Given the description of an element on the screen output the (x, y) to click on. 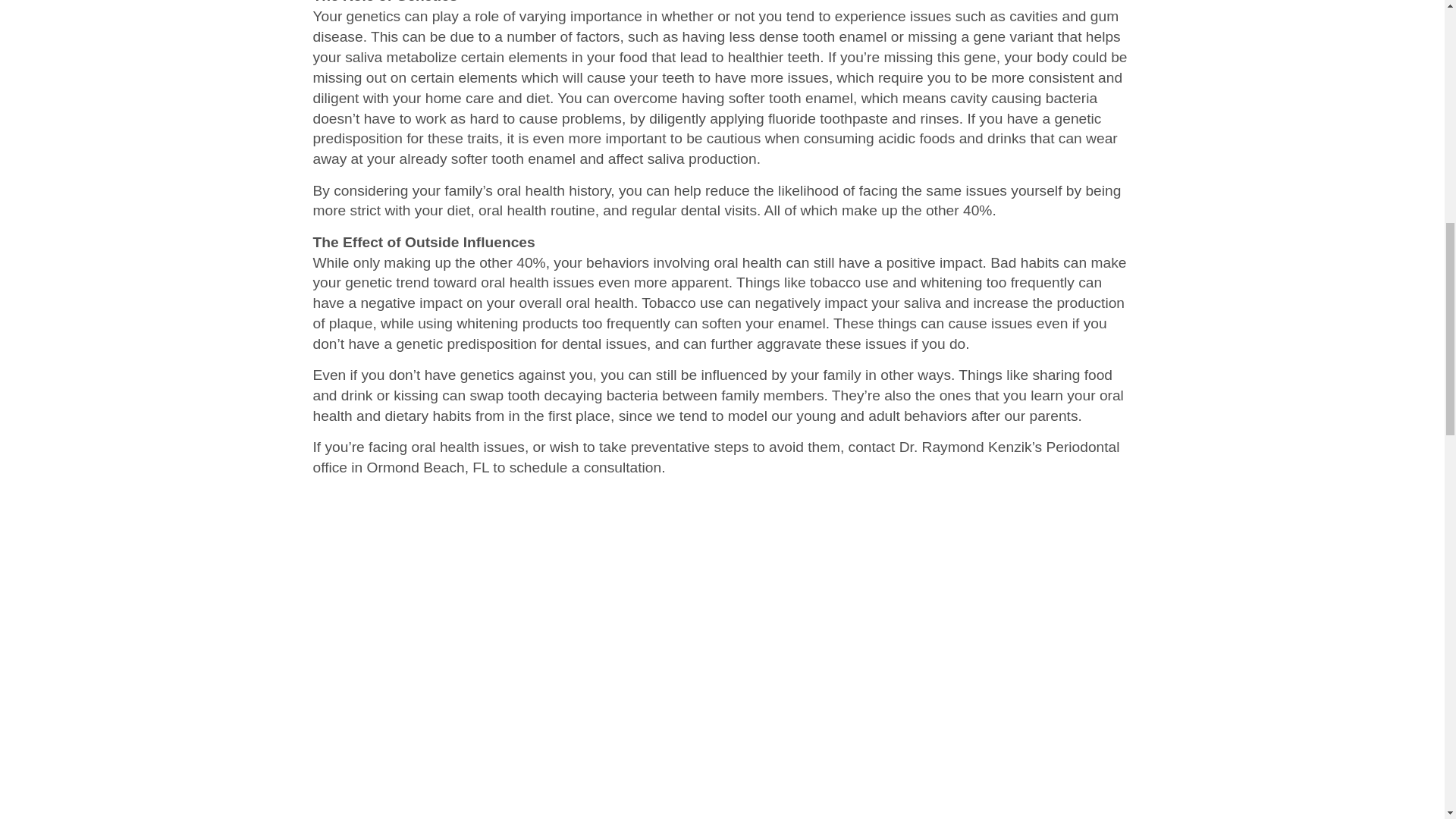
oral health routine (537, 210)
gum disease (715, 26)
whitening products too frequently (563, 323)
Tobacco use (682, 302)
